Given the description of an element on the screen output the (x, y) to click on. 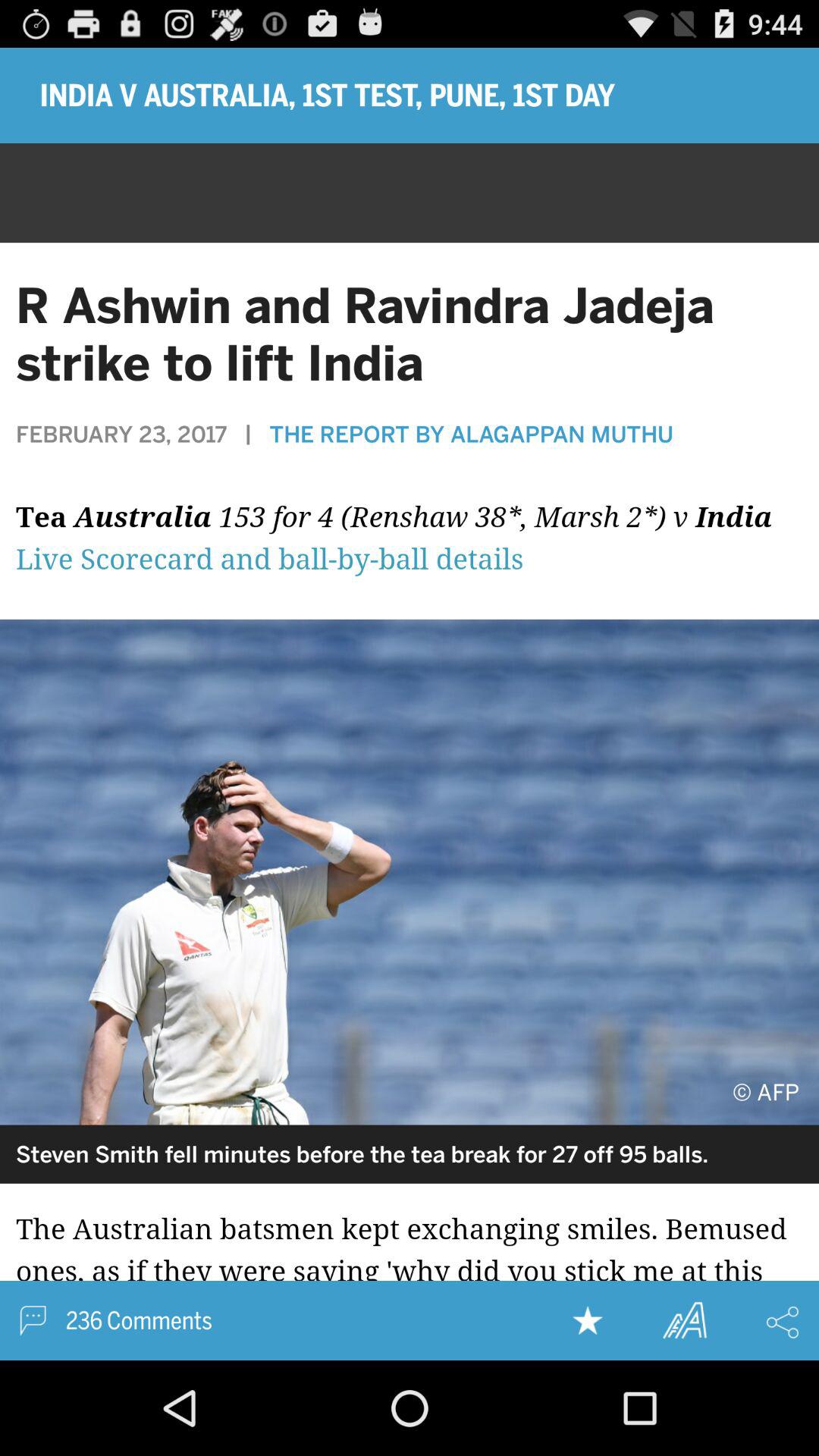
inbox (32, 1320)
